Given the description of an element on the screen output the (x, y) to click on. 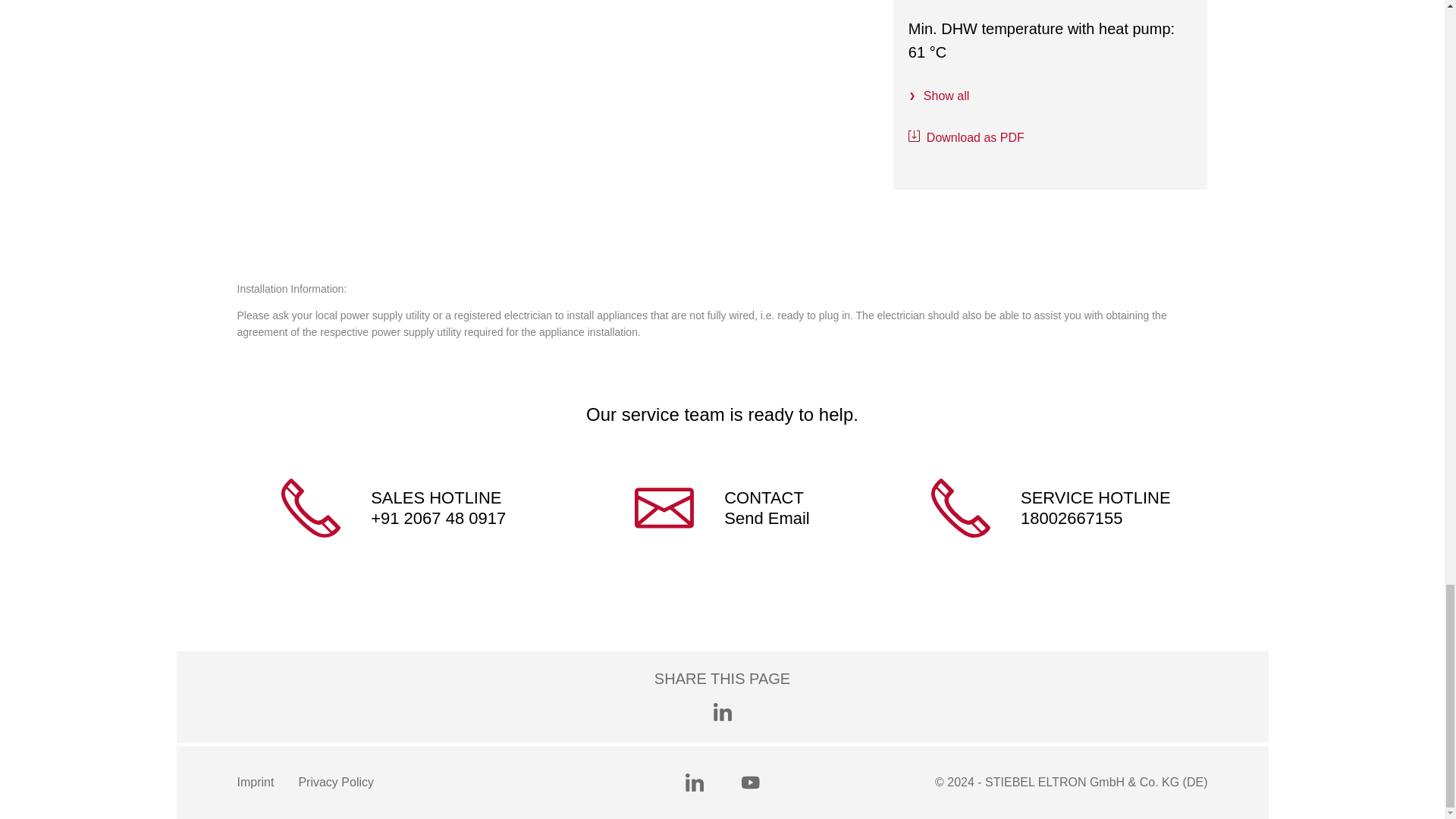
YouTube (750, 782)
LinkedIn (721, 711)
LinkedIn (694, 782)
